Given the description of an element on the screen output the (x, y) to click on. 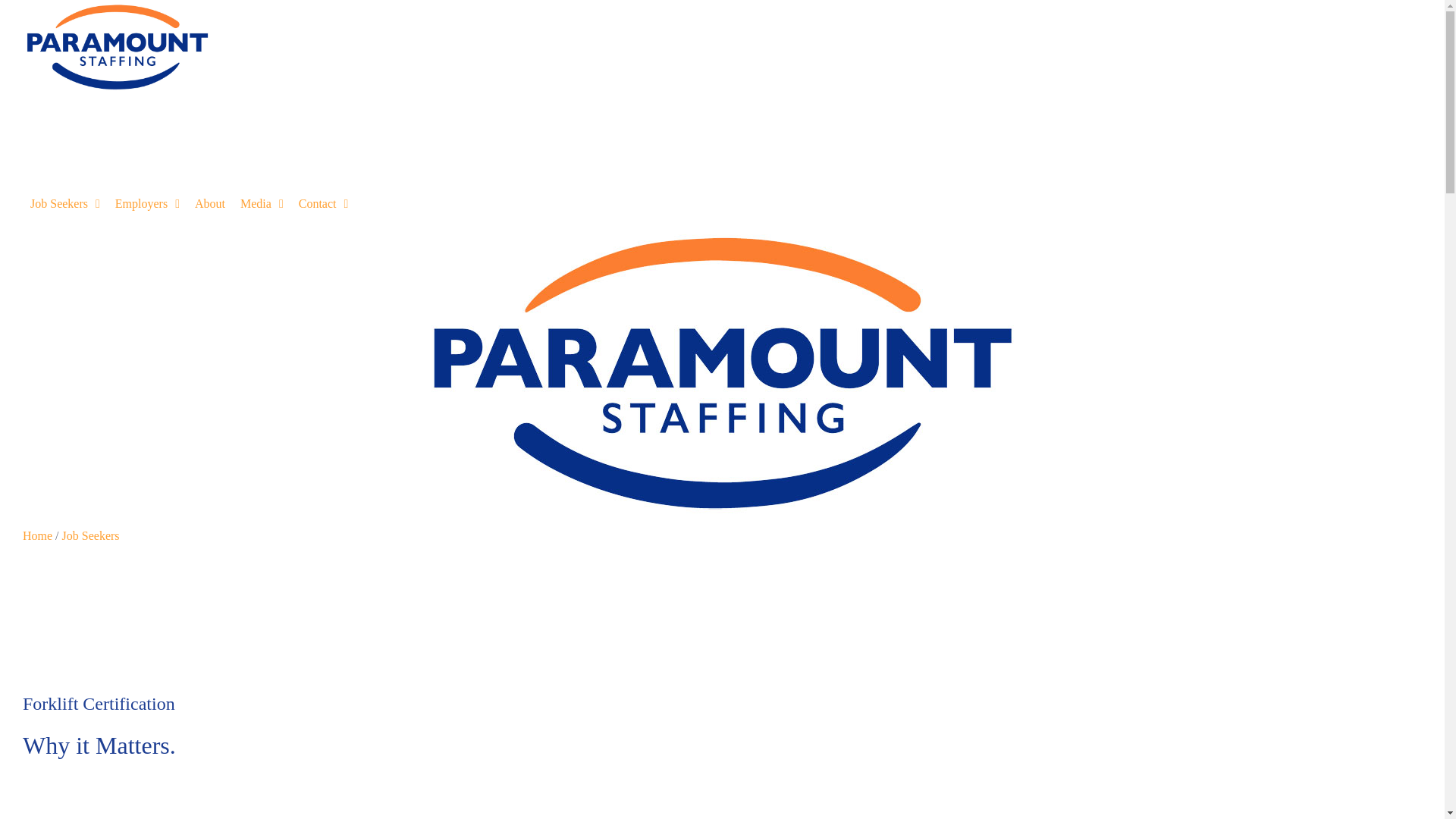
Contact (320, 203)
Job Seekers (290, 156)
About (177, 156)
Employers (65, 203)
Media (209, 203)
